Given the description of an element on the screen output the (x, y) to click on. 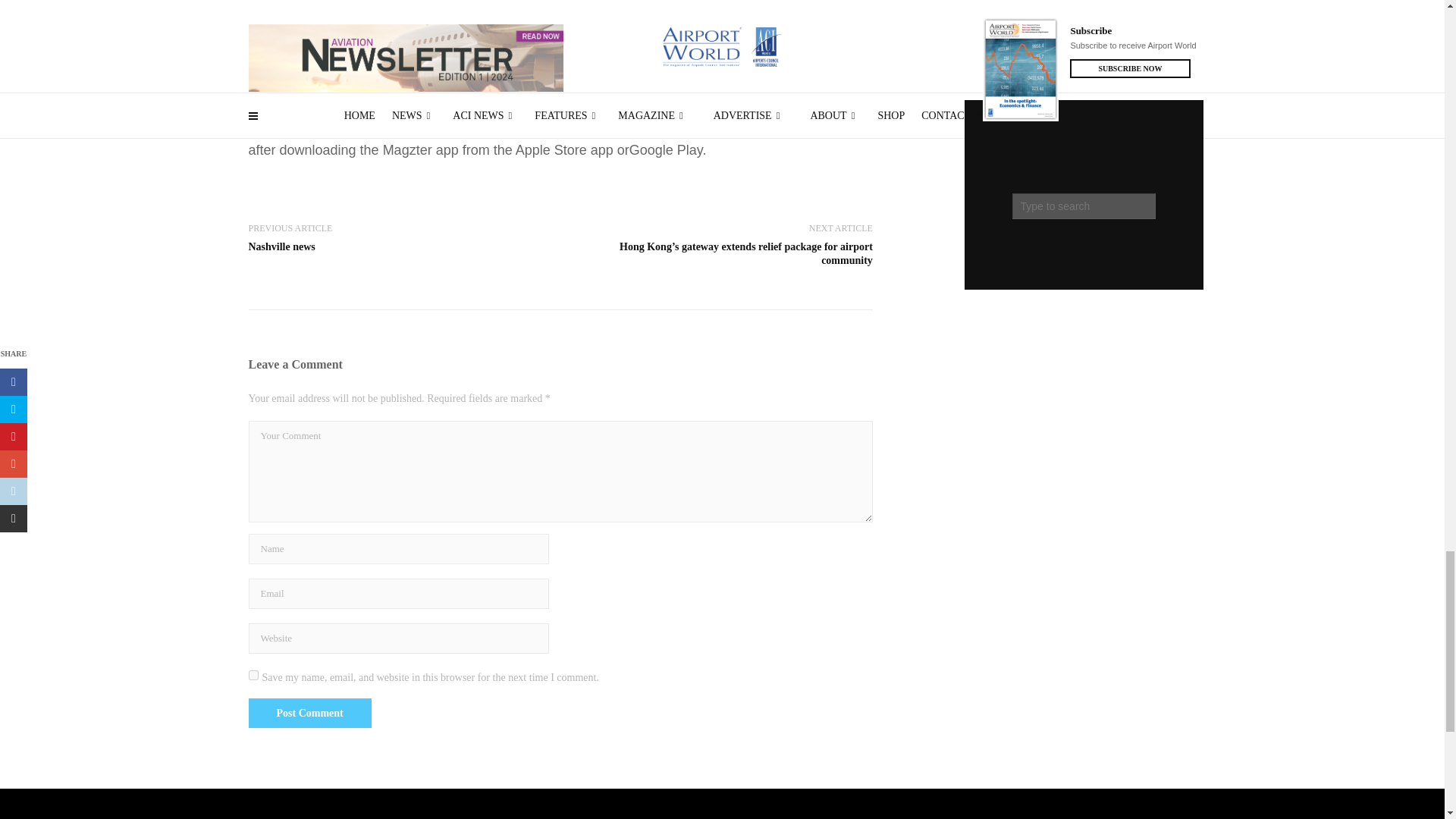
yes (253, 675)
Post Comment (309, 713)
